Given the description of an element on the screen output the (x, y) to click on. 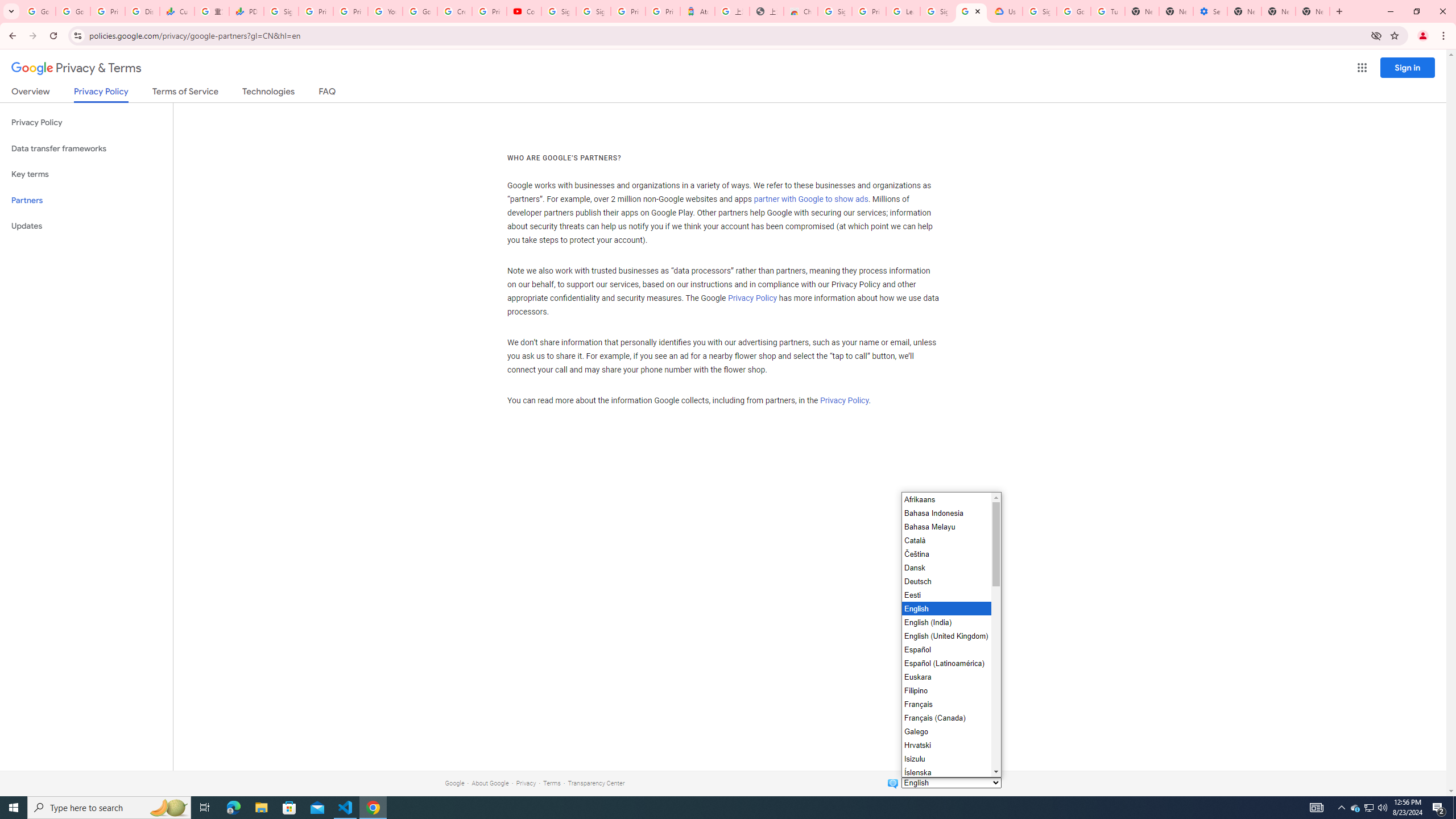
New Tab (1312, 11)
Isizulu (945, 758)
Sign in - Google Accounts (592, 11)
Euskara (945, 676)
